Given the description of an element on the screen output the (x, y) to click on. 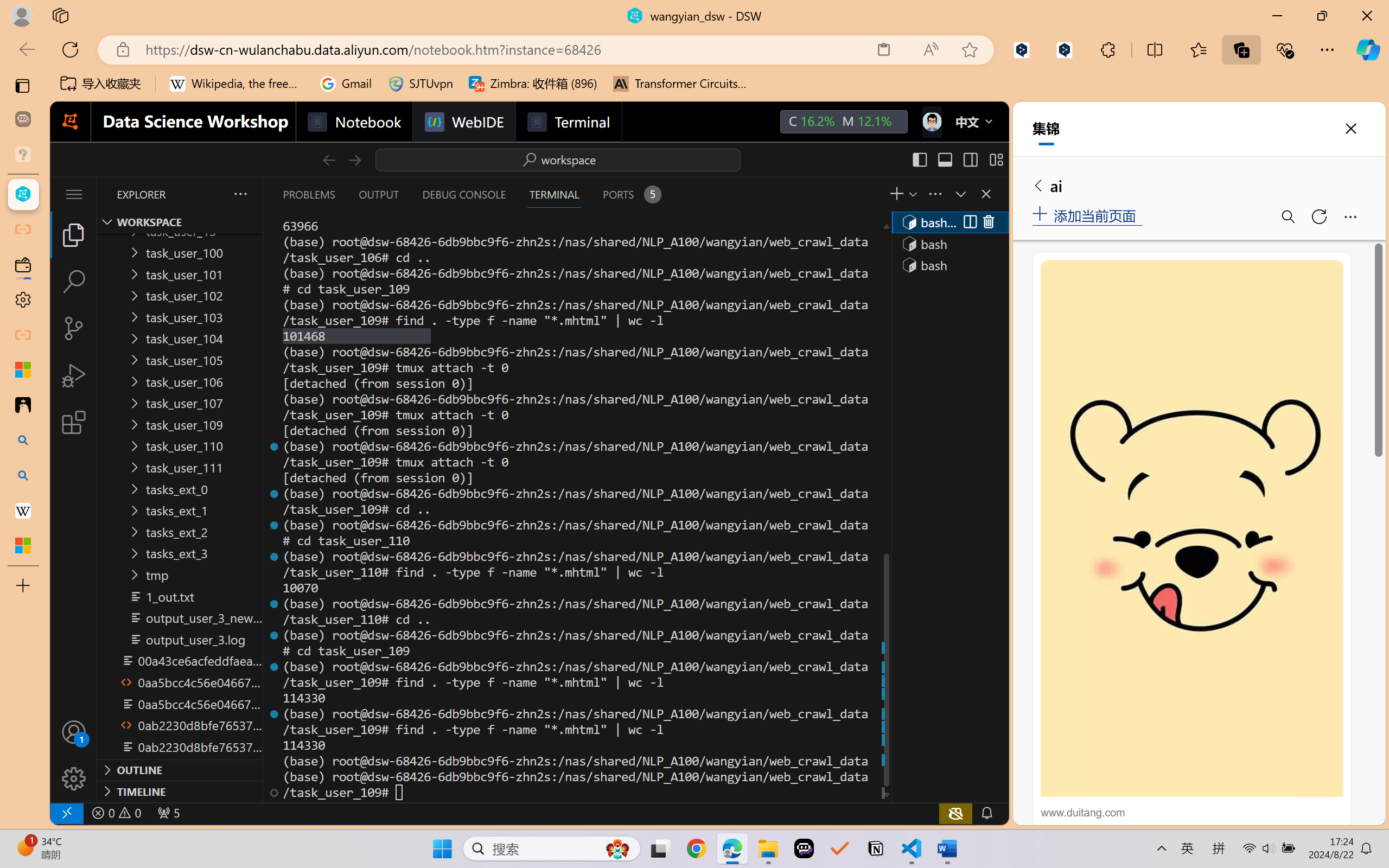
Split (Ctrl+Shift+5) (968, 221)
Accounts - Sign in requested (73, 732)
Class: menubar compact overflow-menu-only (73, 194)
Go Back (Alt+LeftArrow) (329, 159)
Terminal actions (812, 194)
Application Menu (73, 194)
Customize Layout... (995, 159)
Search (Ctrl+Shift+F) (73, 281)
